Given the description of an element on the screen output the (x, y) to click on. 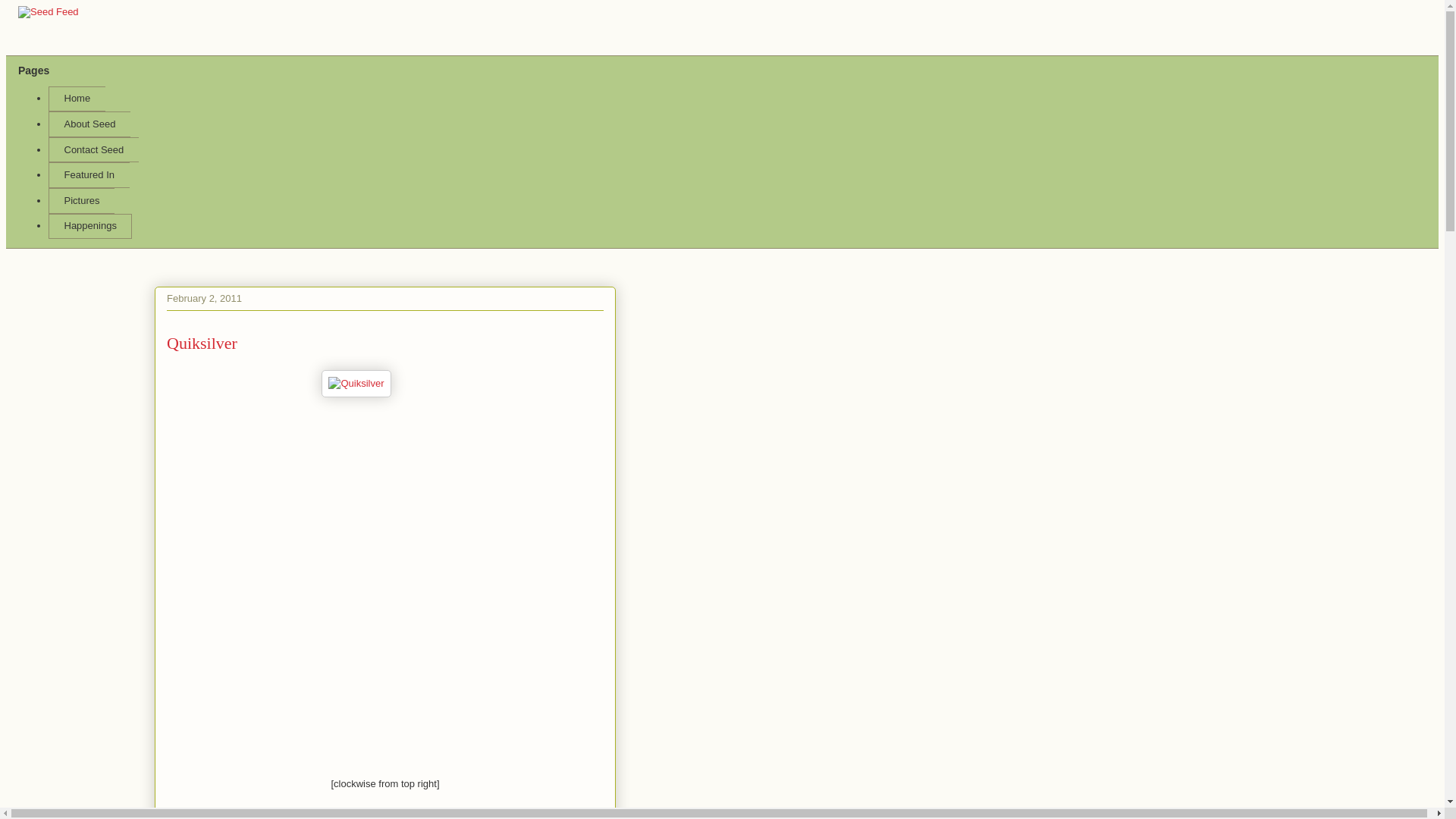
Featured In (88, 175)
Happenings (90, 226)
About Seed (89, 124)
Quiksilver (355, 383)
Home (76, 99)
Contact Seed (93, 149)
Pictures (81, 200)
